Given the description of an element on the screen output the (x, y) to click on. 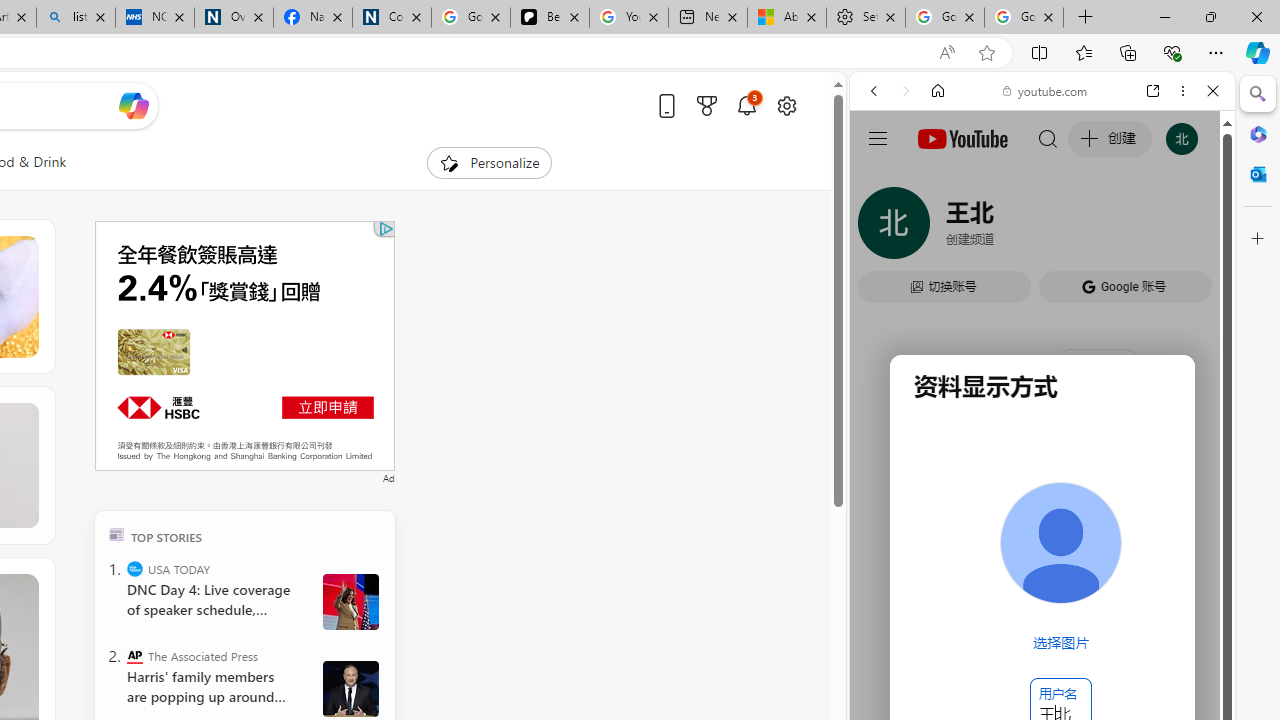
Music (1042, 543)
youtube.com (1046, 90)
Google (1042, 494)
